Given the description of an element on the screen output the (x, y) to click on. 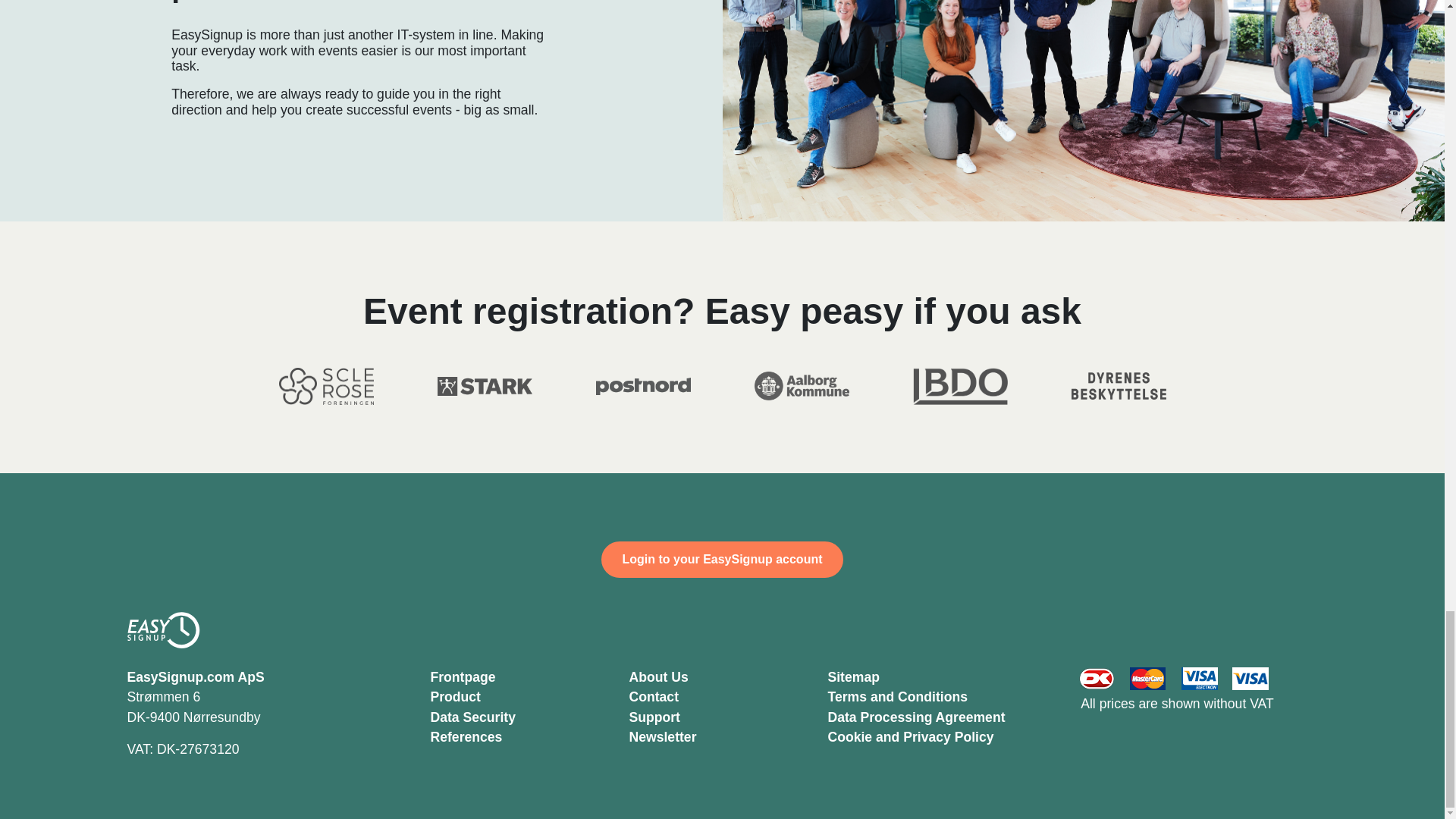
Contact (653, 696)
Login to your EasySignup account (722, 559)
Product (455, 696)
About Us (658, 676)
Data Security (472, 717)
Newsletter (662, 736)
Terms and Conditions (898, 696)
Support (653, 717)
Sitemap (853, 676)
Data Processing Agreement (917, 717)
Frontpage (463, 676)
Cookie and Privacy Policy (911, 736)
References (466, 736)
